Given the description of an element on the screen output the (x, y) to click on. 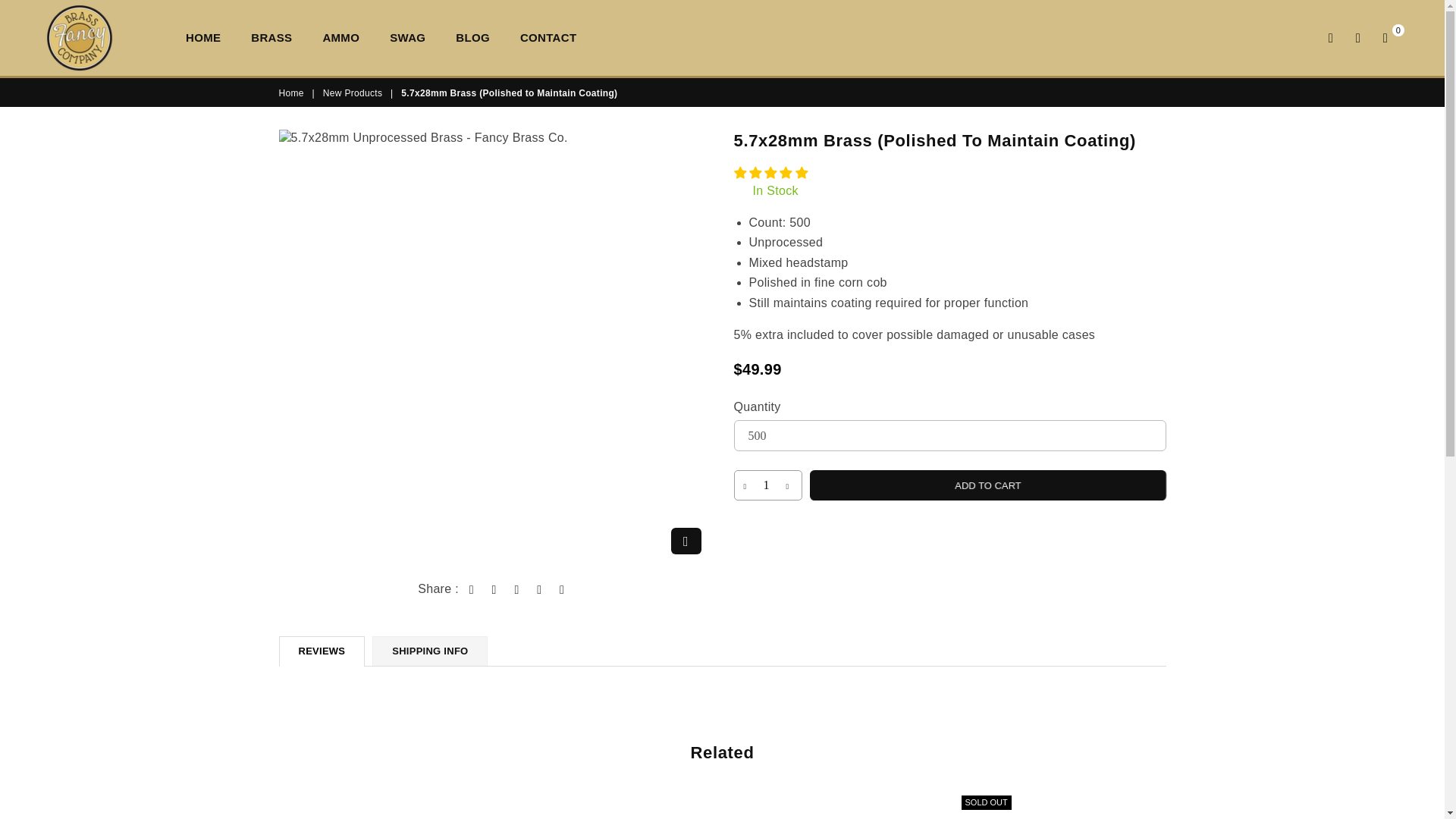
BRASS (271, 37)
Back to the home page (292, 92)
Quantity (767, 485)
0 (1385, 37)
SHIPPING INFO (429, 650)
ADD TO CART (983, 484)
Search (1330, 37)
BLOG (472, 37)
Home (292, 92)
CONTACT (548, 37)
